Given the description of an element on the screen output the (x, y) to click on. 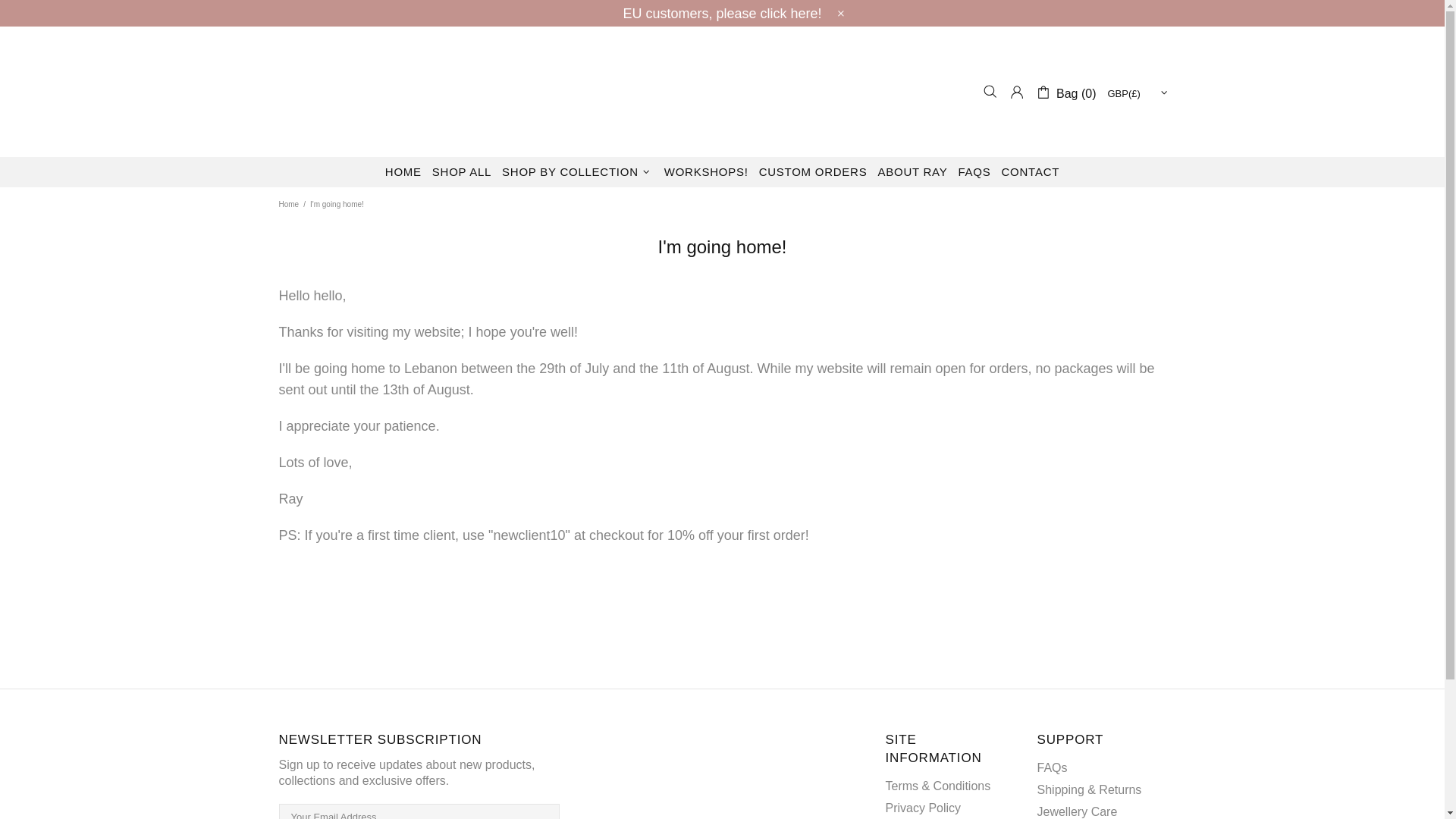
EU customers, please click here! (722, 13)
HOME (403, 172)
ABOUT RAY (912, 172)
WORKSHOPS! (706, 172)
SHOP ALL (461, 172)
FAQs (1051, 767)
CUSTOM ORDERS (813, 172)
Privacy Policy (922, 807)
FAQS (974, 172)
Ray Makes Things (722, 91)
CONTACT (1030, 172)
Jewellery Care (1077, 811)
Home (288, 204)
SHOP BY COLLECTION (577, 172)
